Given the description of an element on the screen output the (x, y) to click on. 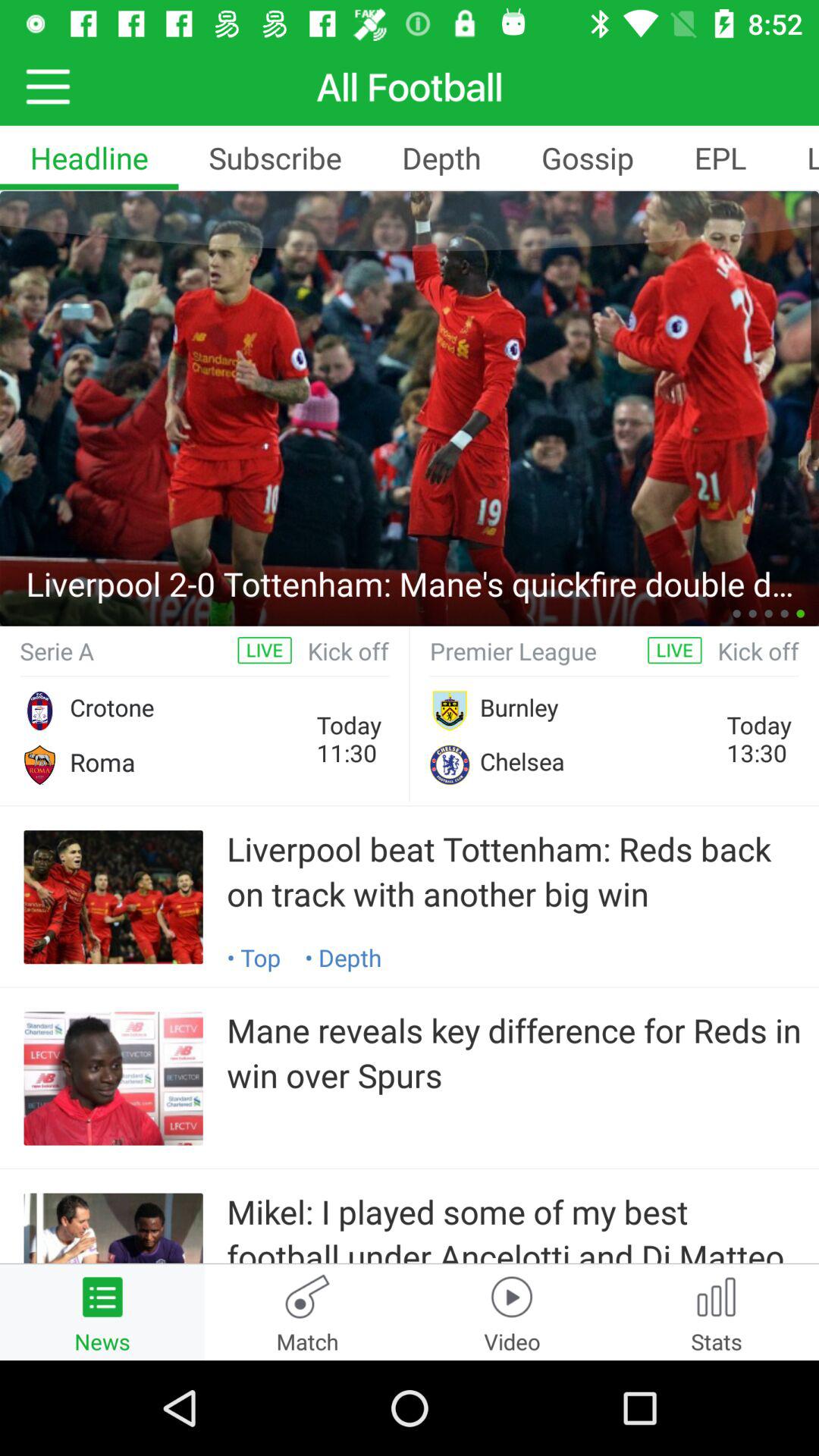
click on match at the bottom of the page beside news (306, 1311)
